Given the description of an element on the screen output the (x, y) to click on. 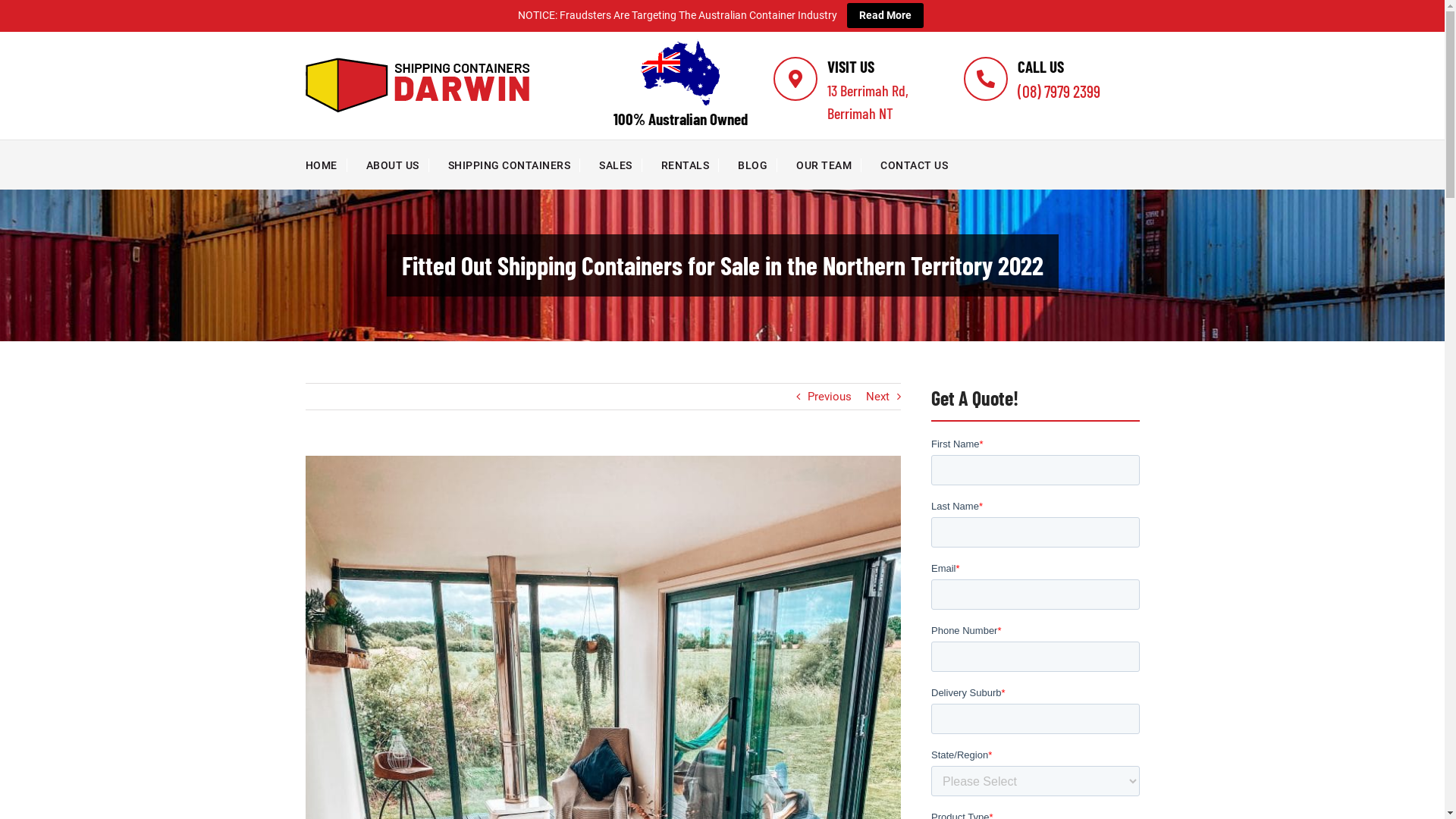
Read More Element type: text (884, 15)
ABOUT US Element type: text (396, 164)
BLOG Element type: text (757, 164)
Previous Element type: text (828, 396)
SHIPPING CONTAINERS Element type: text (513, 164)
Next Element type: text (877, 396)
SALES Element type: text (620, 164)
13 Berrimah Rd, Berrimah NT Element type: text (877, 101)
HOME Element type: text (325, 164)
CONTACT US Element type: text (918, 164)
(08) 7979 2399 Element type: text (1058, 90)
OUR TEAM Element type: text (828, 164)
RENTALS Element type: text (690, 164)
